Given the description of an element on the screen output the (x, y) to click on. 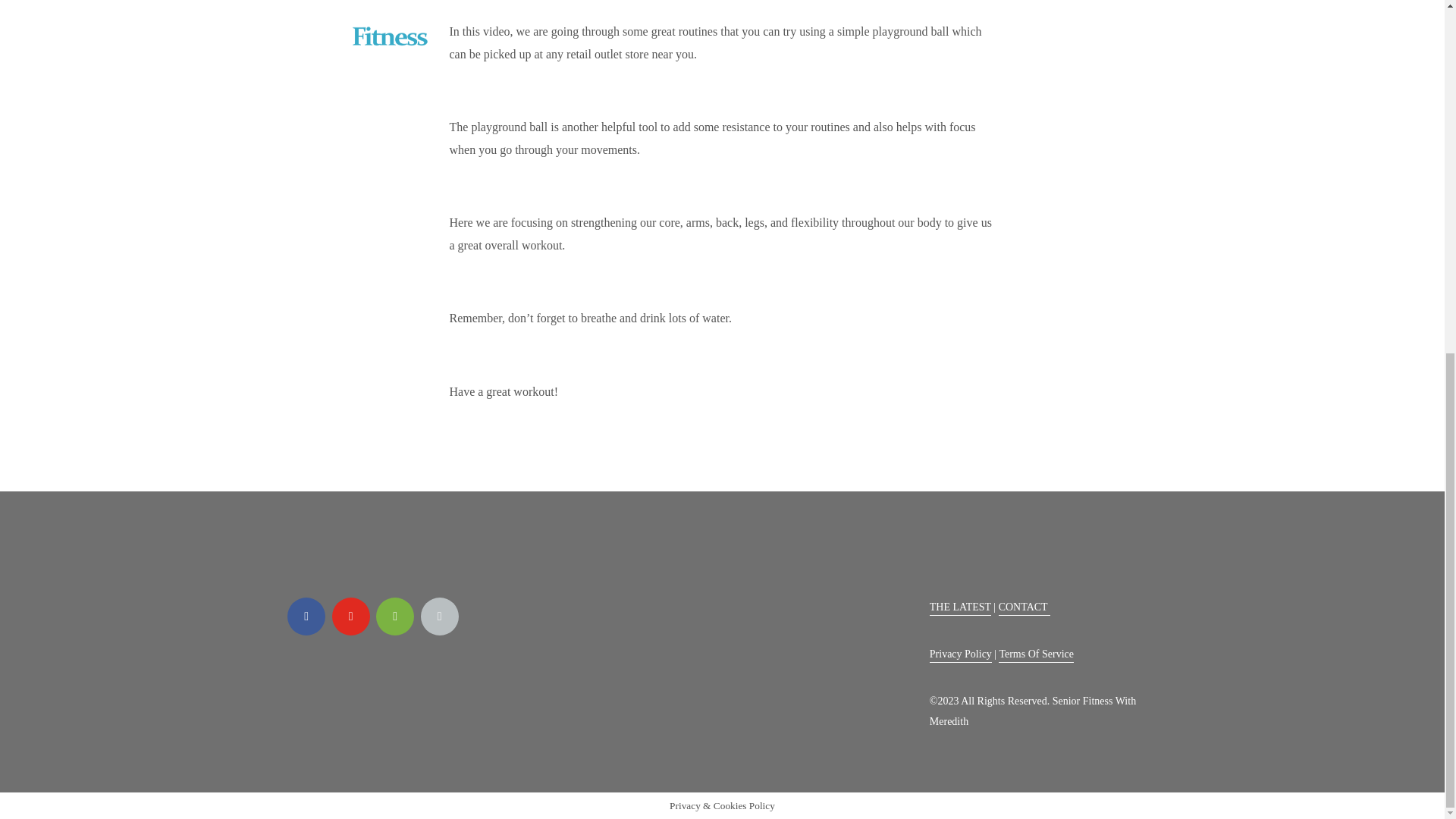
Spotify (394, 616)
youtube (350, 616)
Terms Of Service (1036, 655)
Facebook (305, 616)
facebook (305, 616)
apple (439, 616)
YouTube (350, 616)
CONTACT  (1023, 608)
spotify (394, 616)
Privacy Policy (960, 655)
